Given the description of an element on the screen output the (x, y) to click on. 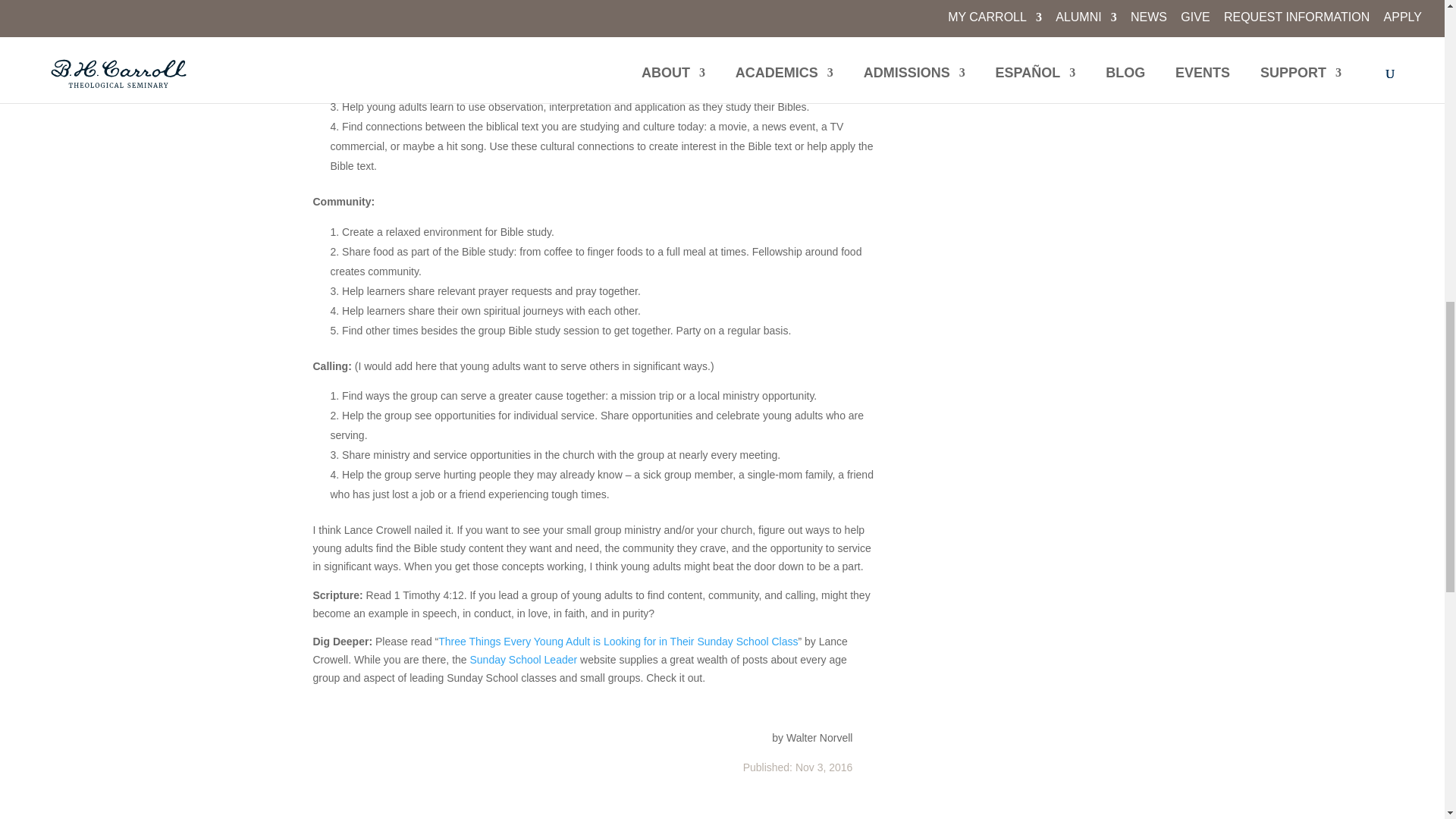
Posts by Walter Norvell (818, 737)
